Given the description of an element on the screen output the (x, y) to click on. 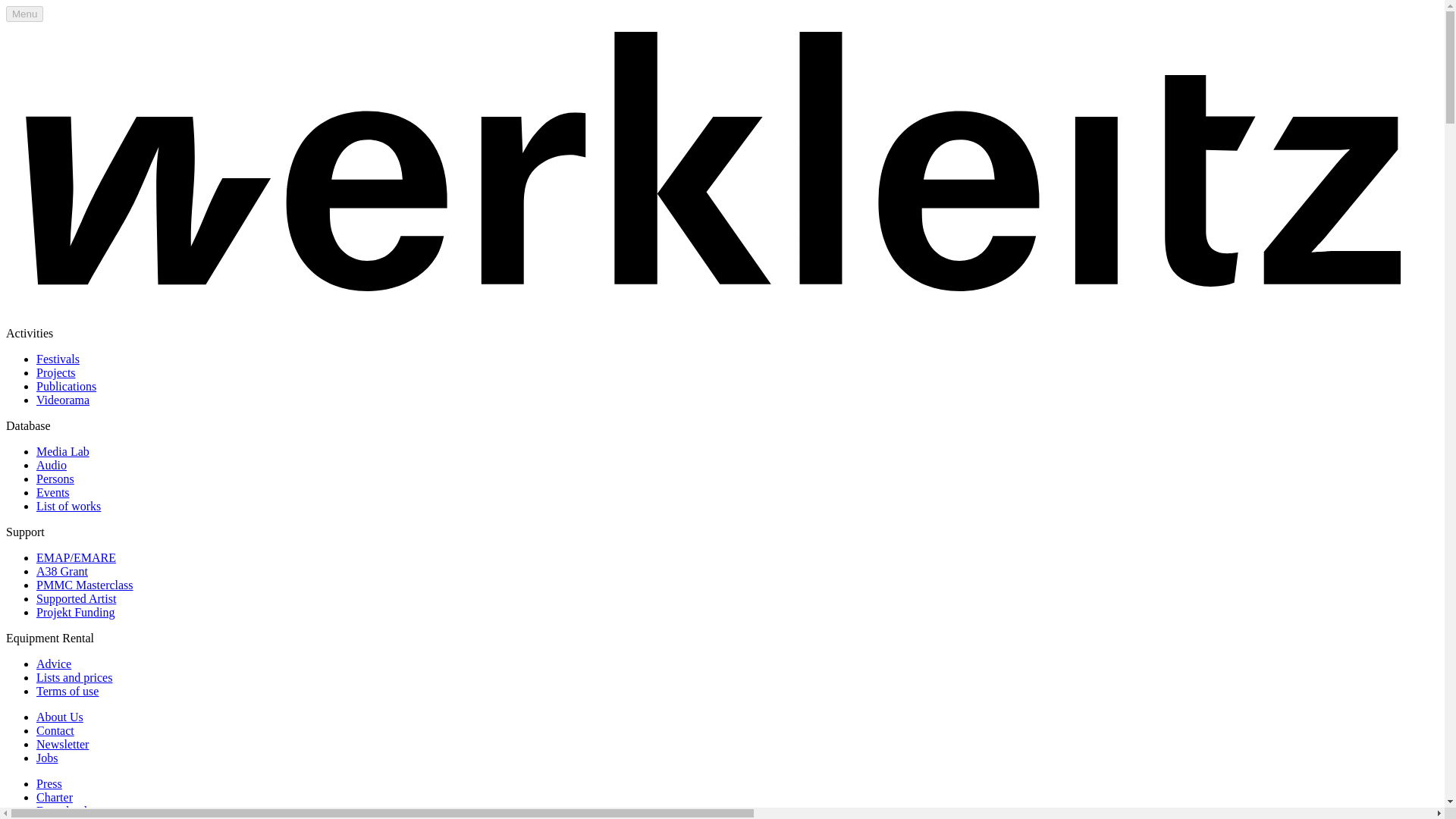
Persons (55, 478)
Videorama (62, 399)
Events (52, 492)
Downloads (63, 810)
Advice (53, 663)
Menu (24, 13)
Supported Artist (76, 598)
A38 Grant (61, 571)
Projects (55, 372)
